Given the description of an element on the screen output the (x, y) to click on. 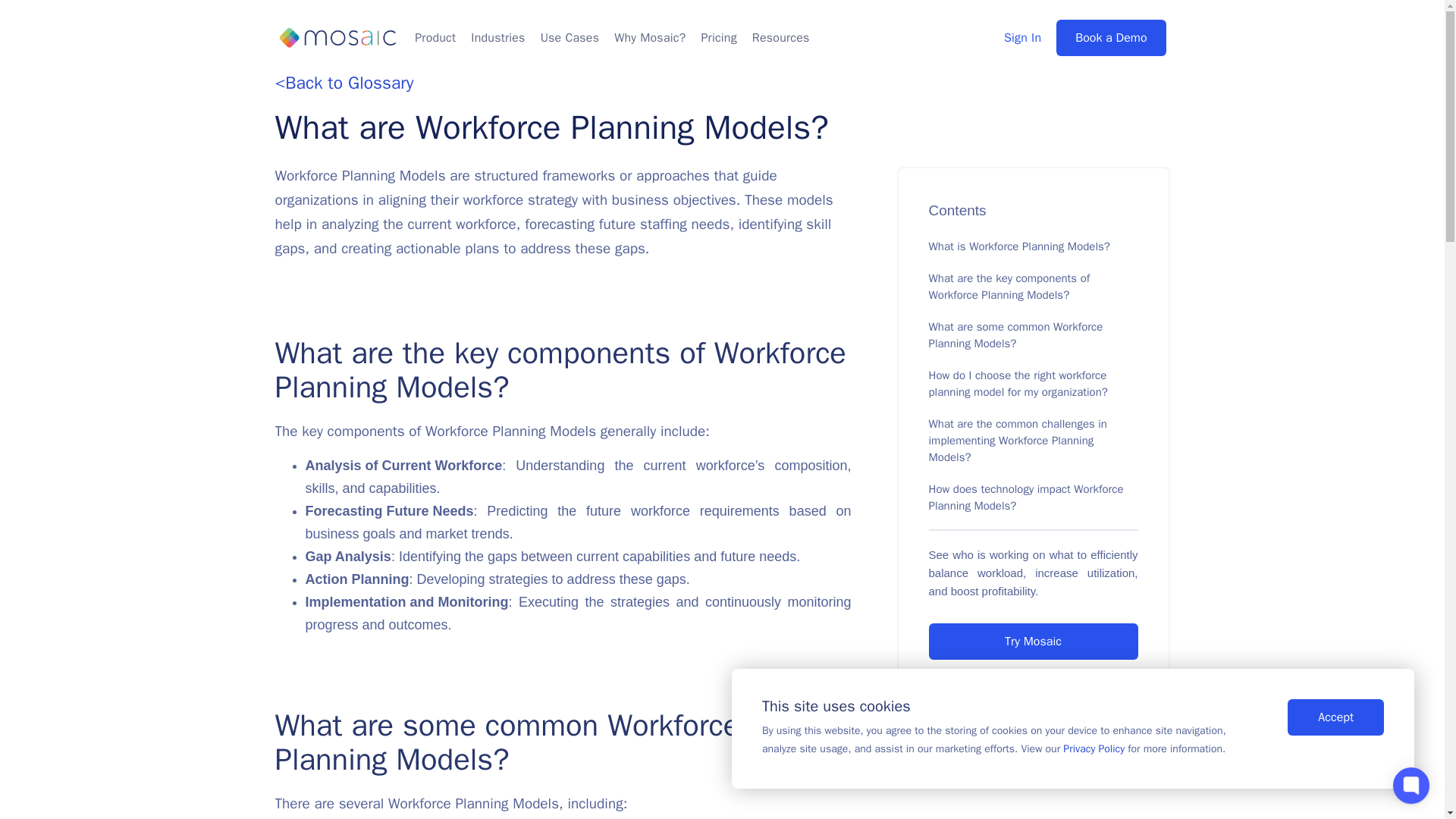
Sign In (1021, 37)
What are some common Workforce Planning Models? (1015, 335)
Accept (1335, 717)
What is Workforce Planning Models? (1018, 246)
Privacy Policy (1093, 748)
Pricing (718, 37)
Why Mosaic? (650, 37)
Use Cases (569, 37)
What are the key components of Workforce Planning Models? (1008, 286)
